Given the description of an element on the screen output the (x, y) to click on. 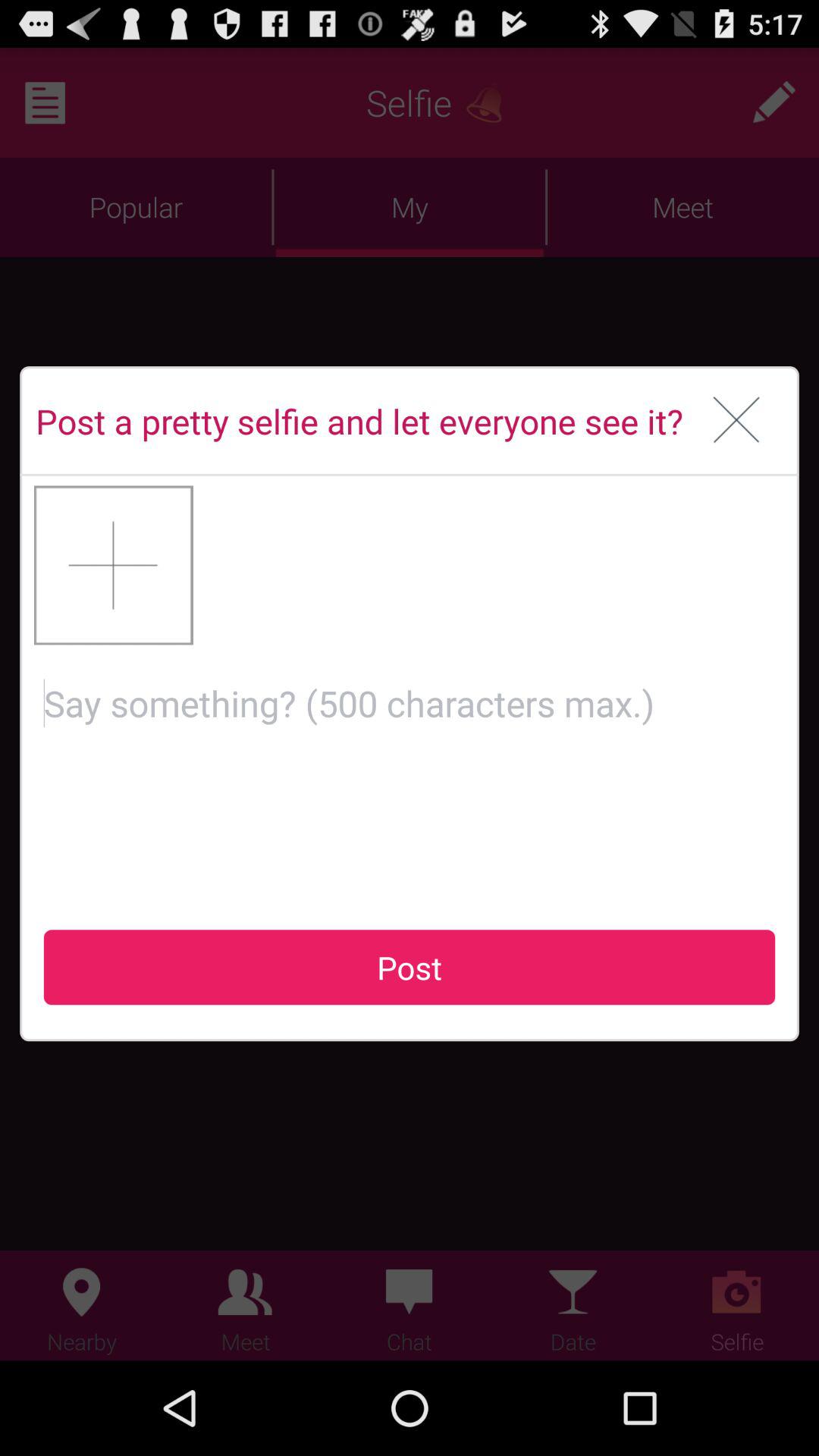
typing box (409, 774)
